Given the description of an element on the screen output the (x, y) to click on. 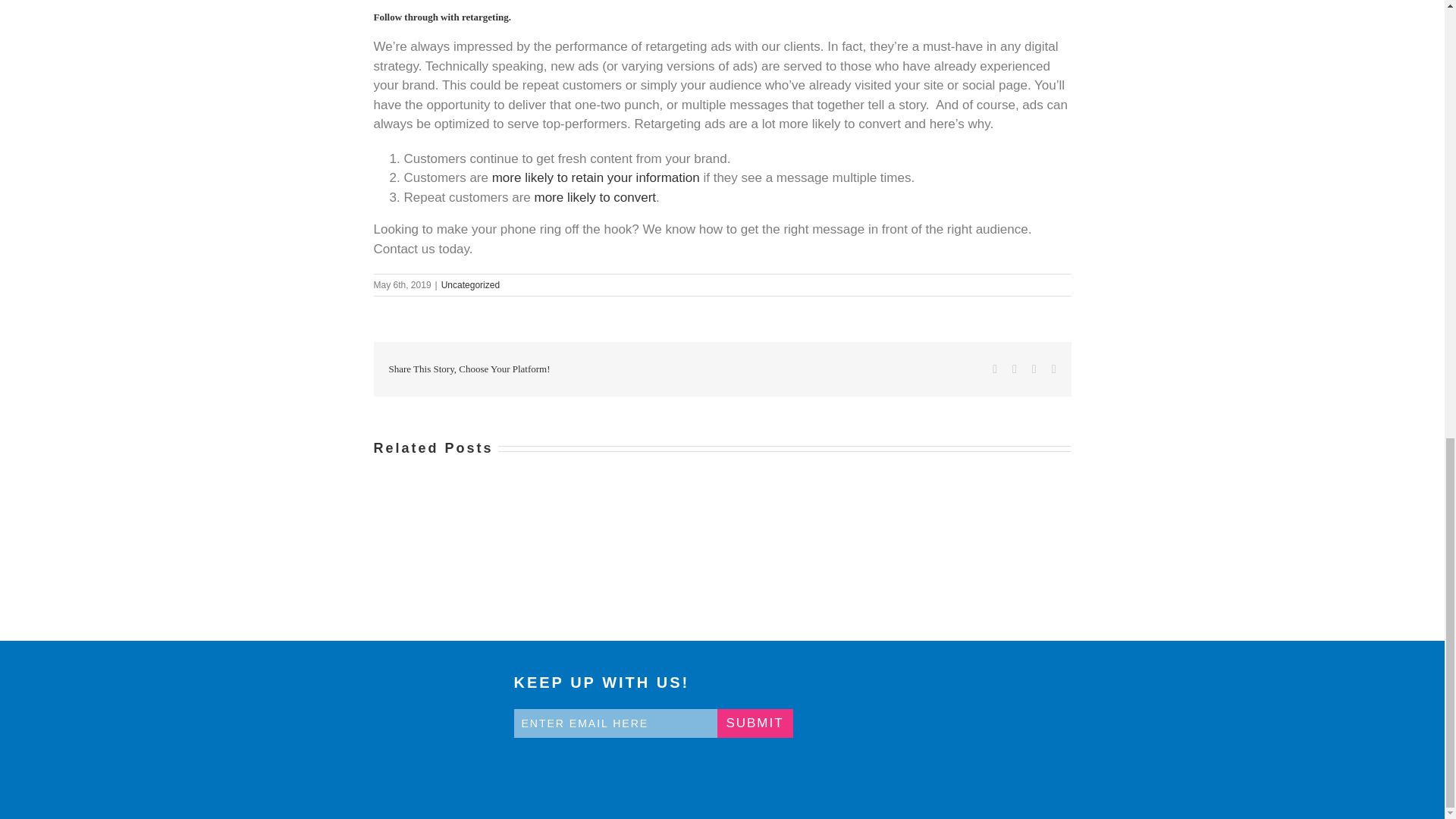
more likely to convert (595, 197)
more likely to retain your information (596, 177)
Uncategorized (470, 285)
SUBMIT (755, 723)
